Given the description of an element on the screen output the (x, y) to click on. 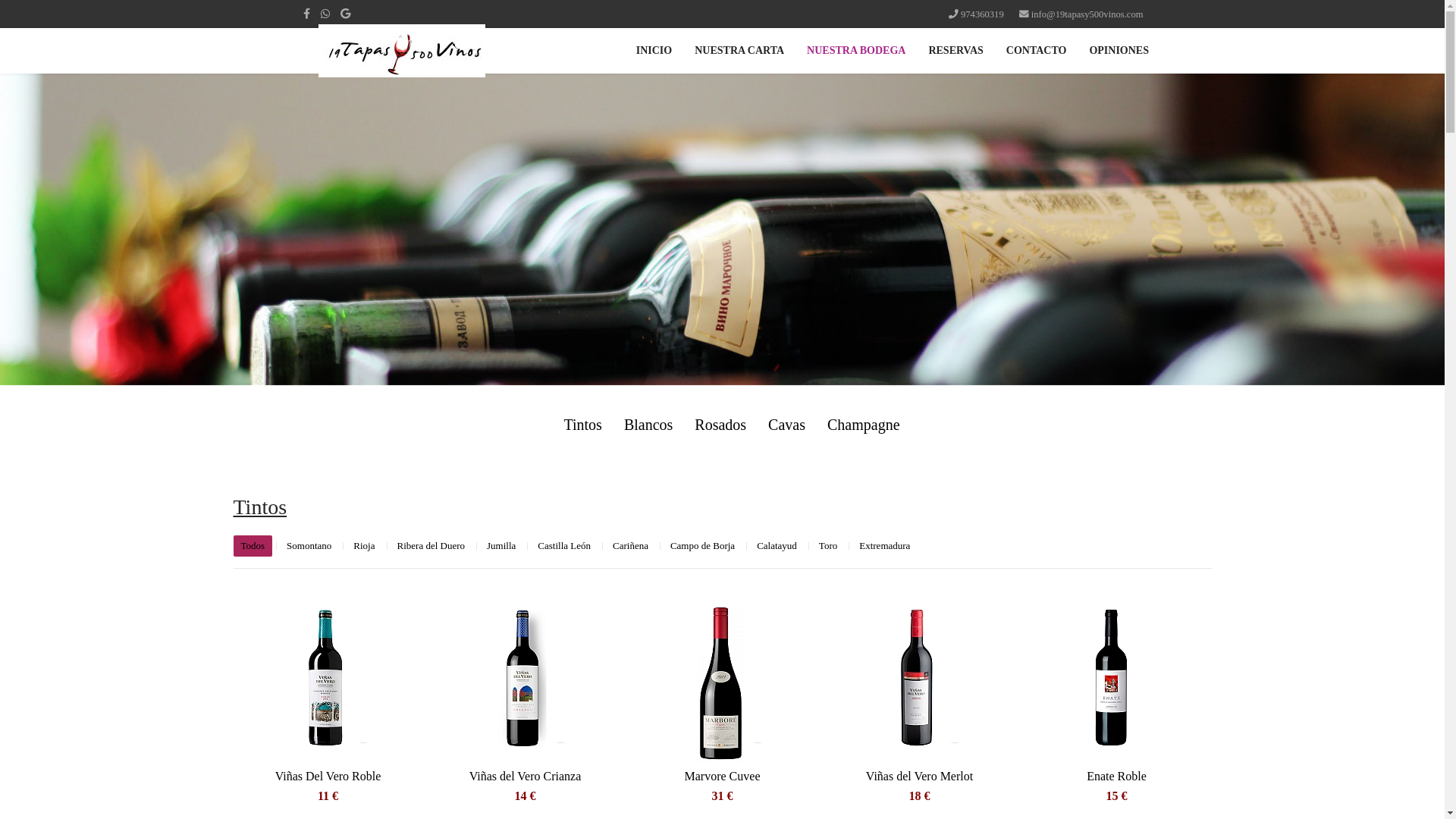
Enate Roble Element type: text (1116, 775)
Cavas Element type: text (786, 424)
Calatayud Element type: text (776, 545)
NUESTRA BODEGA Element type: text (855, 50)
Blancos Element type: text (648, 424)
Todos Element type: text (253, 545)
RESERVAS Element type: text (955, 50)
NUESTRA CARTA Element type: text (739, 50)
Somontano Element type: text (308, 545)
info@19tapasy500vinos.com Element type: text (1087, 14)
Rosados Element type: text (720, 424)
Ribera del Duero Element type: text (431, 545)
OPINIONES Element type: text (1118, 50)
Marvore Cuvee Element type: text (722, 775)
Tintos Element type: text (582, 424)
Jumilla Element type: text (501, 545)
CONTACTO Element type: text (1036, 50)
974360319 Element type: text (982, 14)
Champagne Element type: text (863, 424)
INICIO Element type: text (653, 50)
Toro Element type: text (827, 545)
Rioja Element type: text (363, 545)
Campo de Borja Element type: text (702, 545)
Extremadura Element type: text (884, 545)
